Given the description of an element on the screen output the (x, y) to click on. 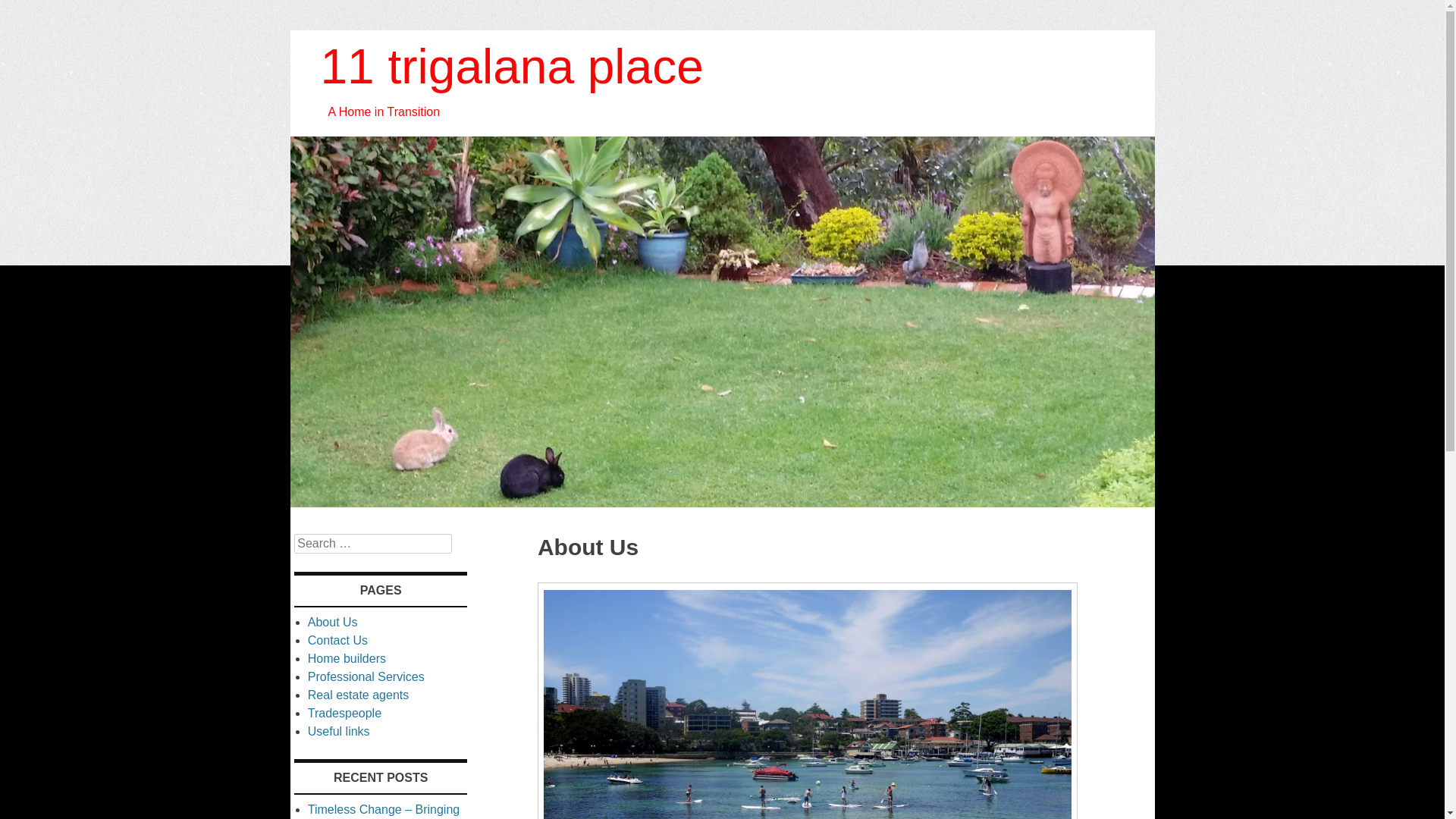
SKIP TO CONTENT Element type: text (350, 525)
Home builders Element type: text (346, 658)
Professional Services Element type: text (365, 676)
11 trigalana place Element type: hover (721, 502)
11 trigalana place Element type: text (511, 66)
About Us Element type: text (332, 621)
Useful links Element type: text (338, 730)
Tradespeople Element type: text (344, 712)
Real estate agents Element type: text (357, 694)
Contact Us Element type: text (337, 639)
